Given the description of an element on the screen output the (x, y) to click on. 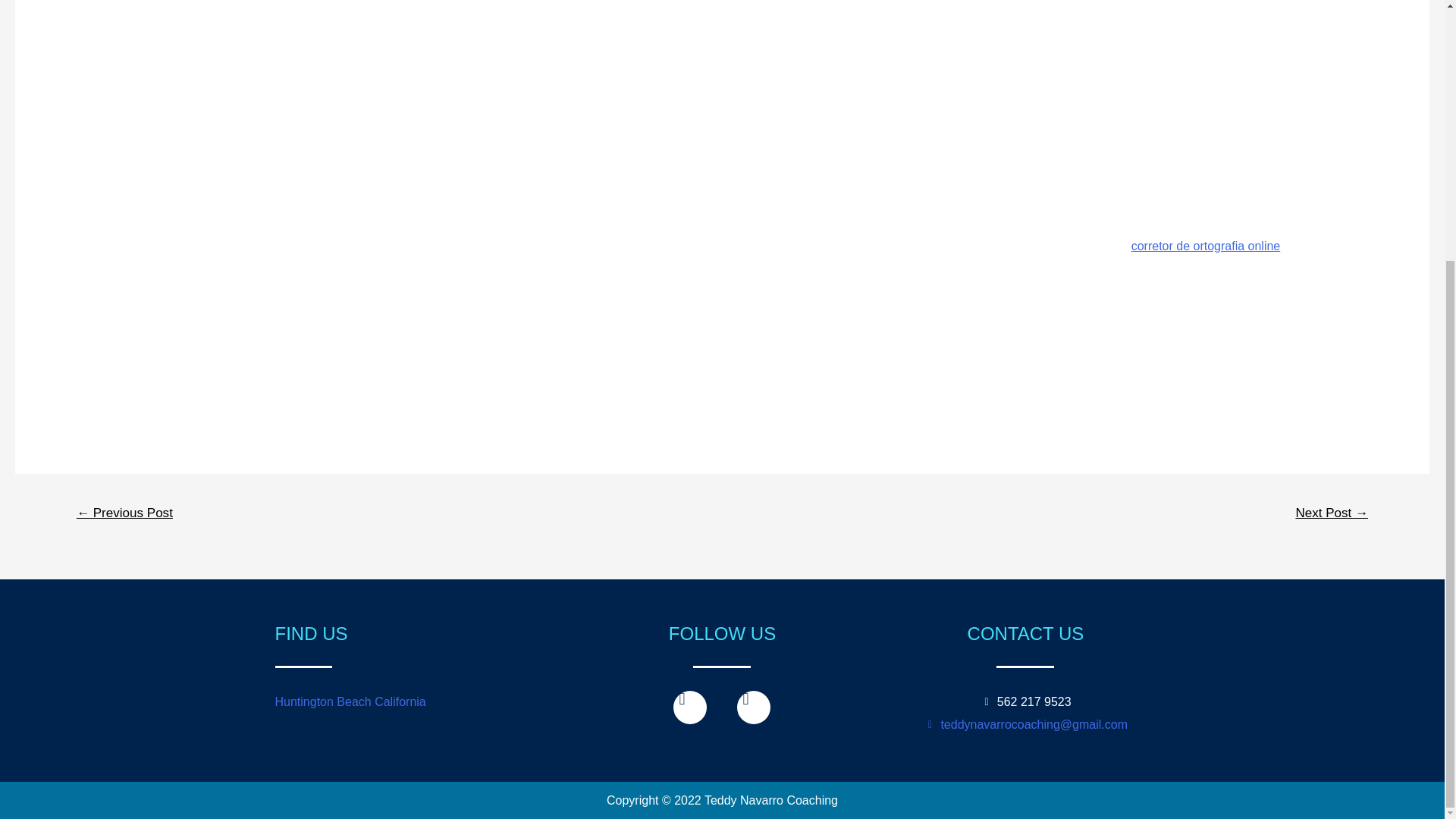
corretor de ortografia online (1206, 245)
Huntington Beach California (350, 701)
